Given the description of an element on the screen output the (x, y) to click on. 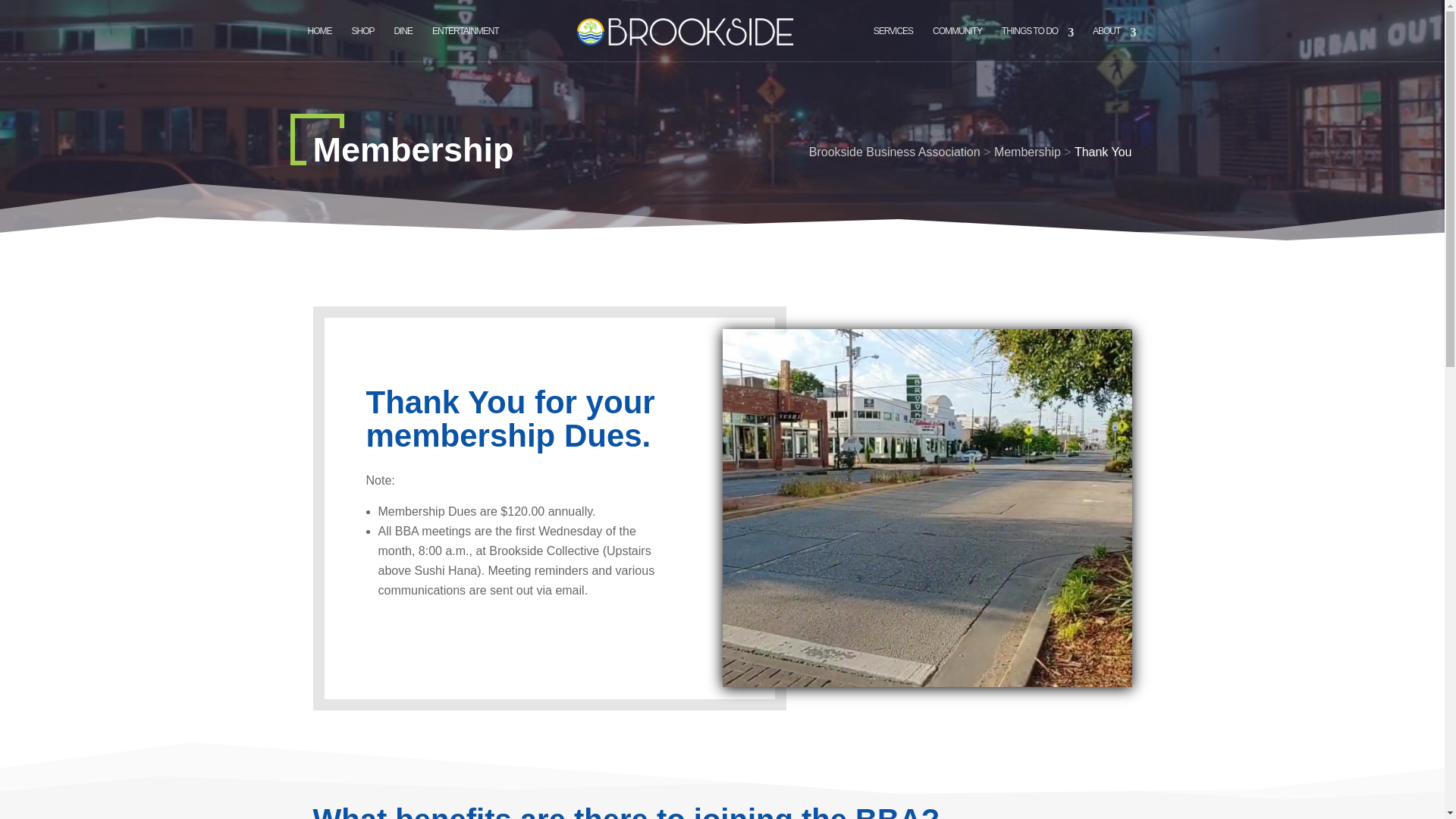
Brookside Business Association (894, 151)
SERVICES (892, 43)
ABOUT (1114, 43)
Go to Brookside Business Association. (894, 151)
Go to Membership. (1027, 151)
Membership (1027, 151)
THINGS TO DO (1037, 43)
ENTERTAINMENT (465, 43)
COMMUNITY (957, 43)
